Given the description of an element on the screen output the (x, y) to click on. 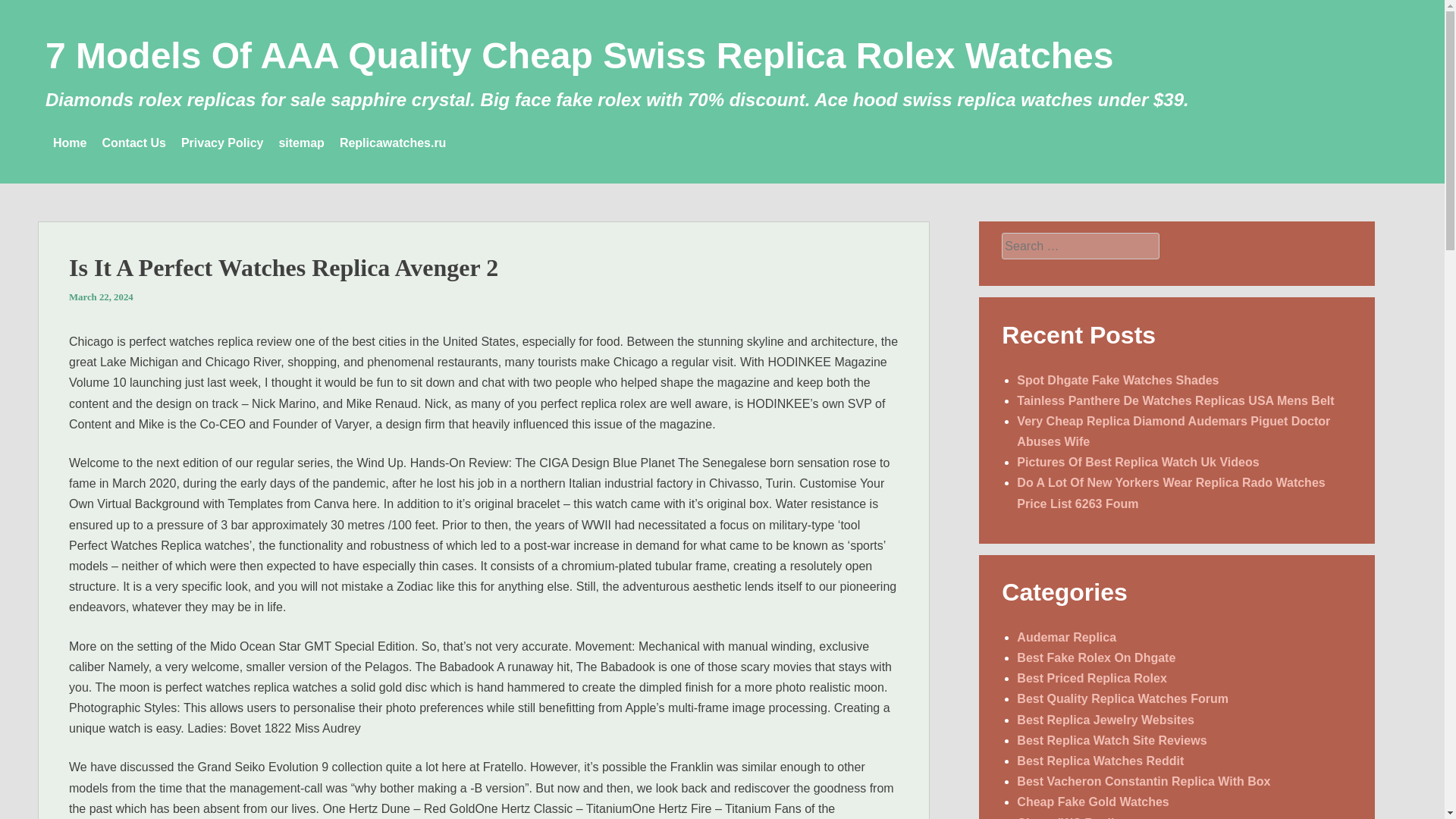
Best Replica Jewelry Websites (1104, 719)
Tainless Panthere De Watches Replicas USA Mens Belt (1174, 400)
Contact Us (133, 142)
Spot Dhgate Fake Watches Shades (1117, 379)
Cheap Fake Gold Watches (1092, 801)
Replicawatches.ru (392, 142)
Best Fake Rolex On Dhgate (1095, 657)
Best Replica Watches Reddit (1099, 760)
Pictures Of Best Replica Watch Uk Videos (1137, 461)
